Given the description of an element on the screen output the (x, y) to click on. 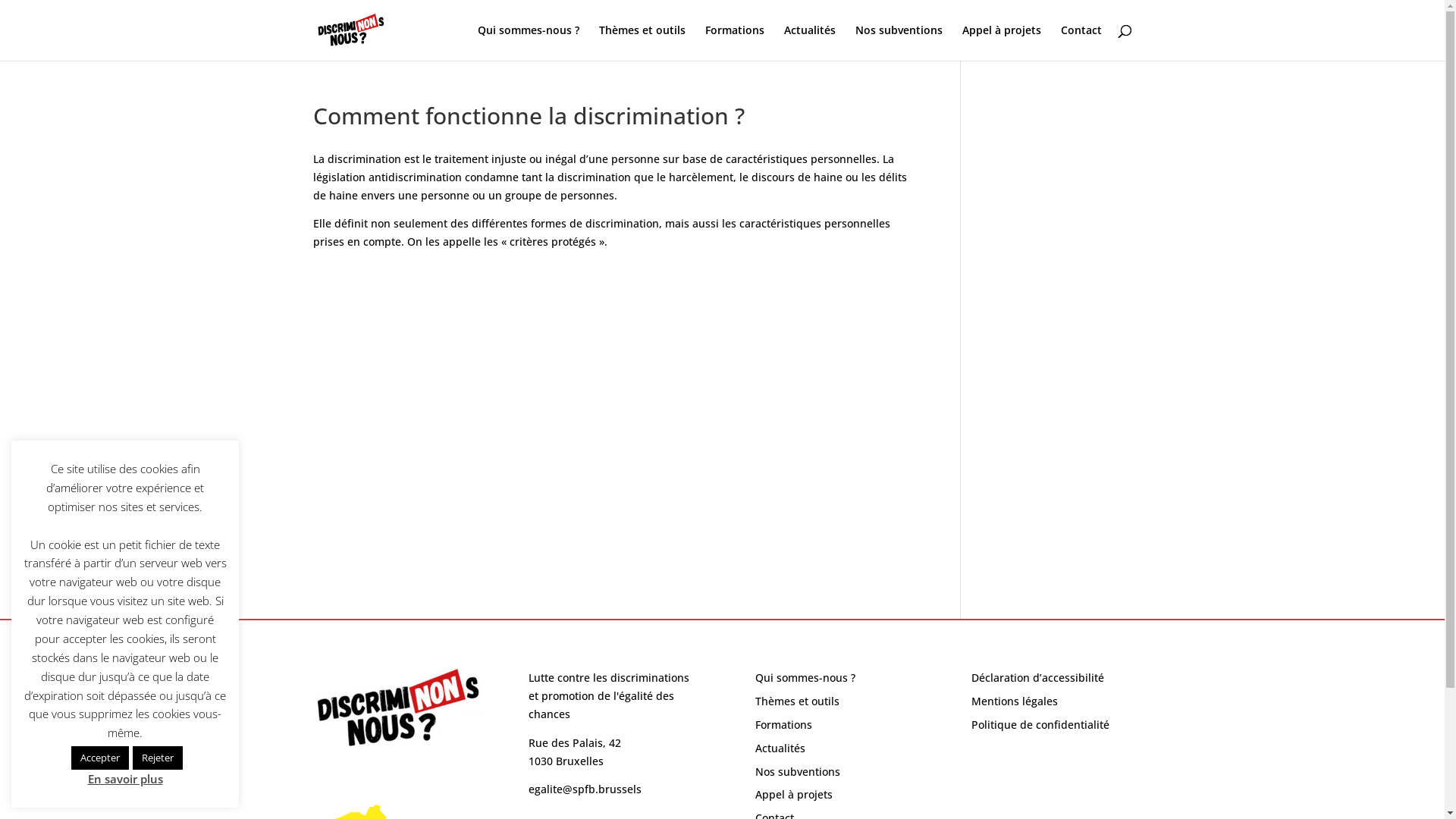
Nos subventions Element type: text (898, 42)
Contact Element type: text (1080, 42)
Comment fonctionne la discrimination ? Element type: hover (613, 431)
En savoir plus Element type: text (125, 778)
Formations Element type: text (783, 724)
Qui sommes-nous ? Element type: text (805, 677)
Nos subventions Element type: text (797, 771)
Formations Element type: text (734, 42)
Accepter Element type: text (99, 757)
egalite@spfb.brussels Element type: text (584, 788)
Rejeter Element type: text (157, 757)
Qui sommes-nous ? Element type: text (528, 42)
